Given the description of an element on the screen output the (x, y) to click on. 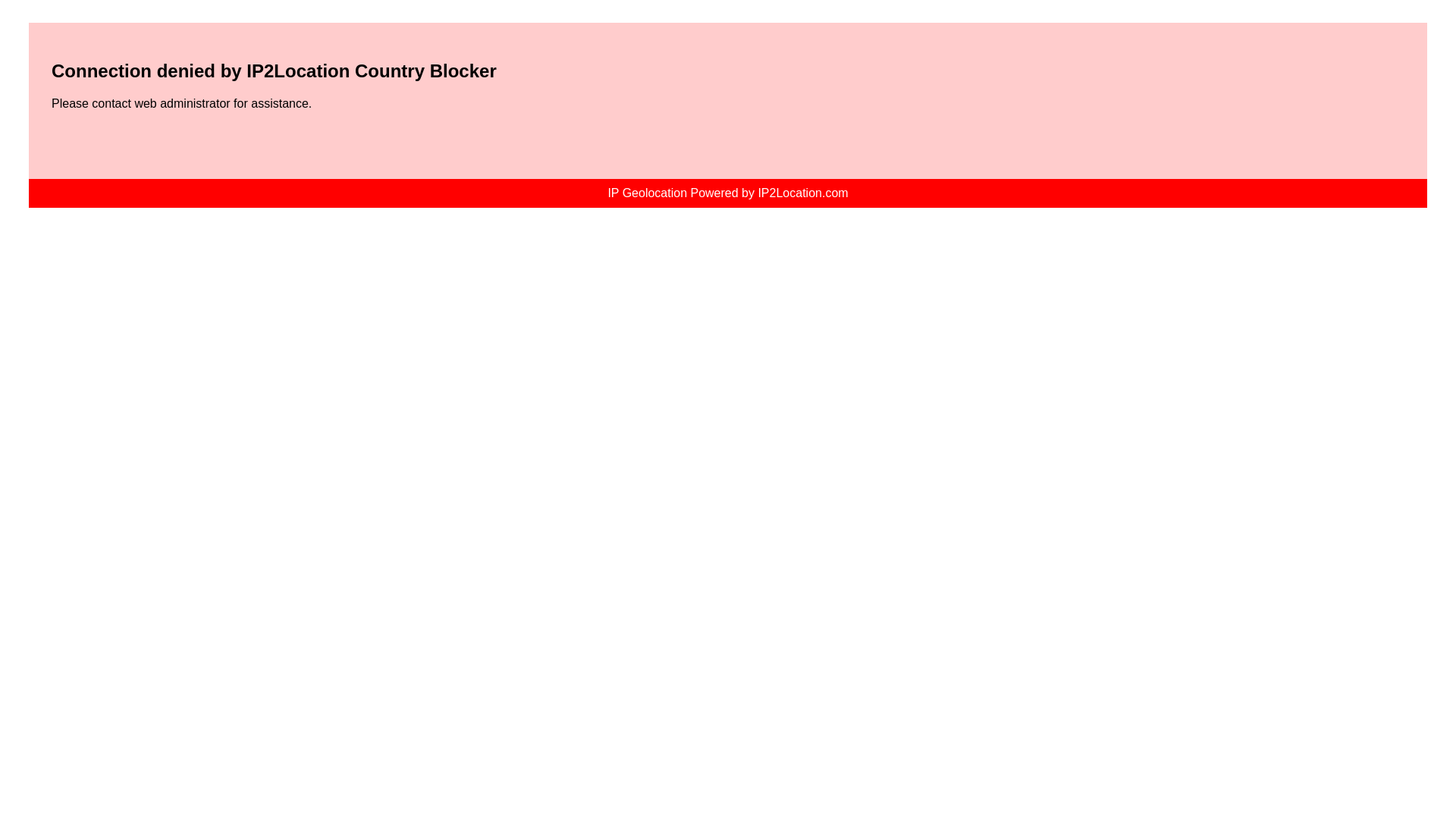
IP Geolocation Powered by IP2Location.com (727, 192)
